Given the description of an element on the screen output the (x, y) to click on. 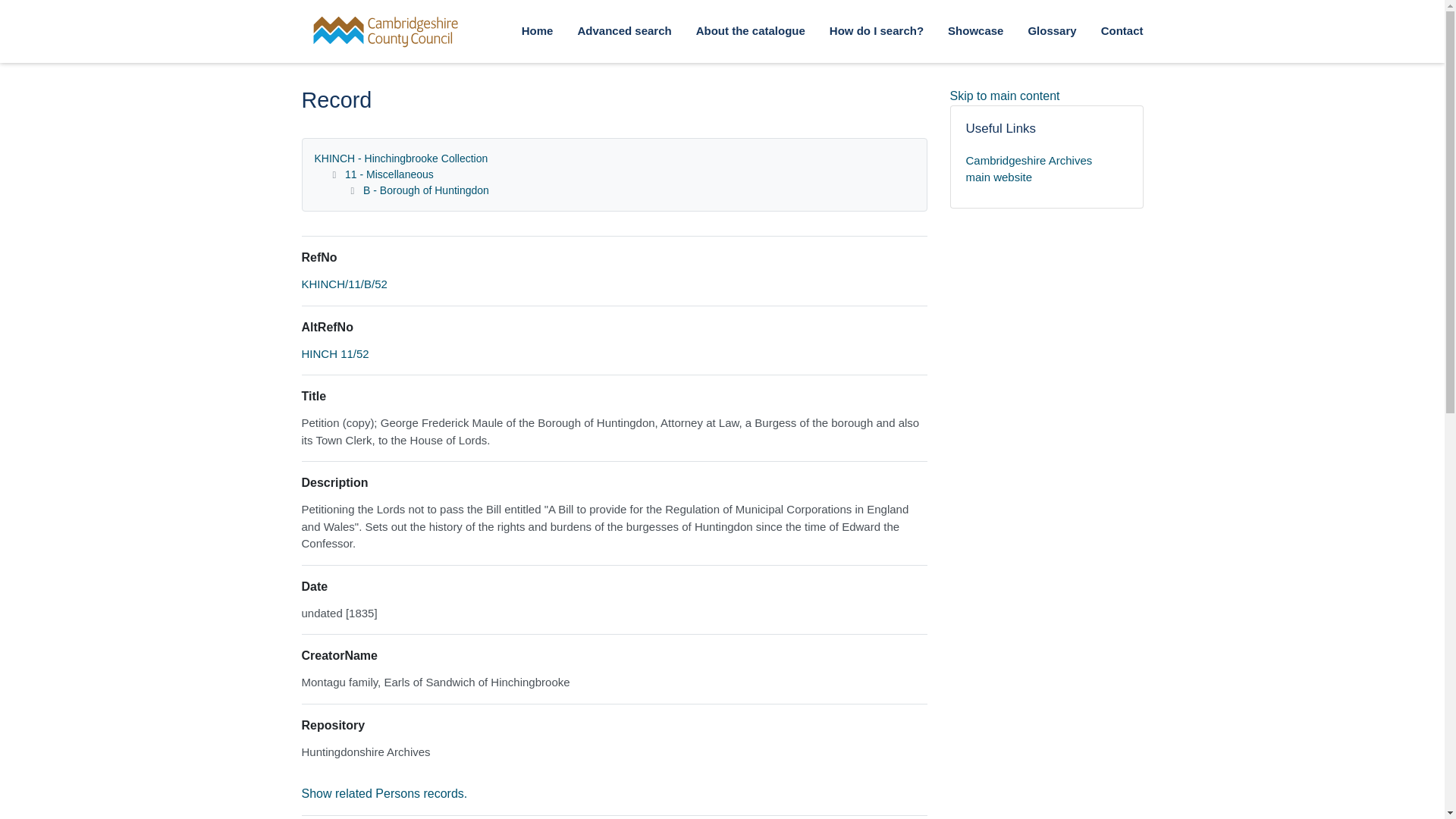
Show related Persons records. (384, 793)
Advanced search (623, 31)
Browse record in hierarchy. (335, 353)
B - Borough of Huntingdon (425, 190)
11 - Miscellaneous (389, 174)
Show related Persons records. (384, 793)
Skip to main content (1004, 95)
How do I search? (876, 31)
Browse record in hierarchy. (344, 283)
Homepage (343, 31)
Cambridgeshire Archives main website (1046, 169)
KHINCH - Hinchingbrooke Collection (400, 158)
About the catalogue (750, 31)
